Given the description of an element on the screen output the (x, y) to click on. 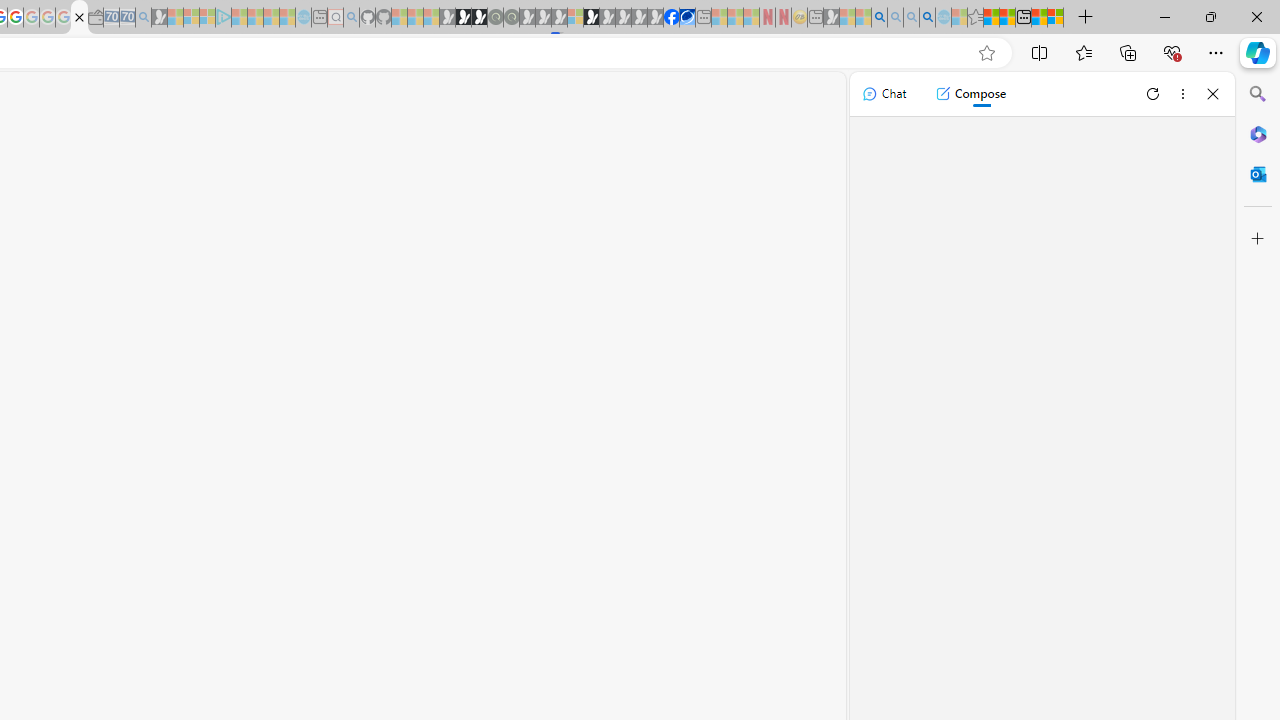
Microsoft account | Privacy (1055, 17)
Wallet - Sleeping (95, 17)
Microsoft Start - Sleeping (271, 17)
More options (1182, 93)
github - Search - Sleeping (351, 17)
